Given the description of an element on the screen output the (x, y) to click on. 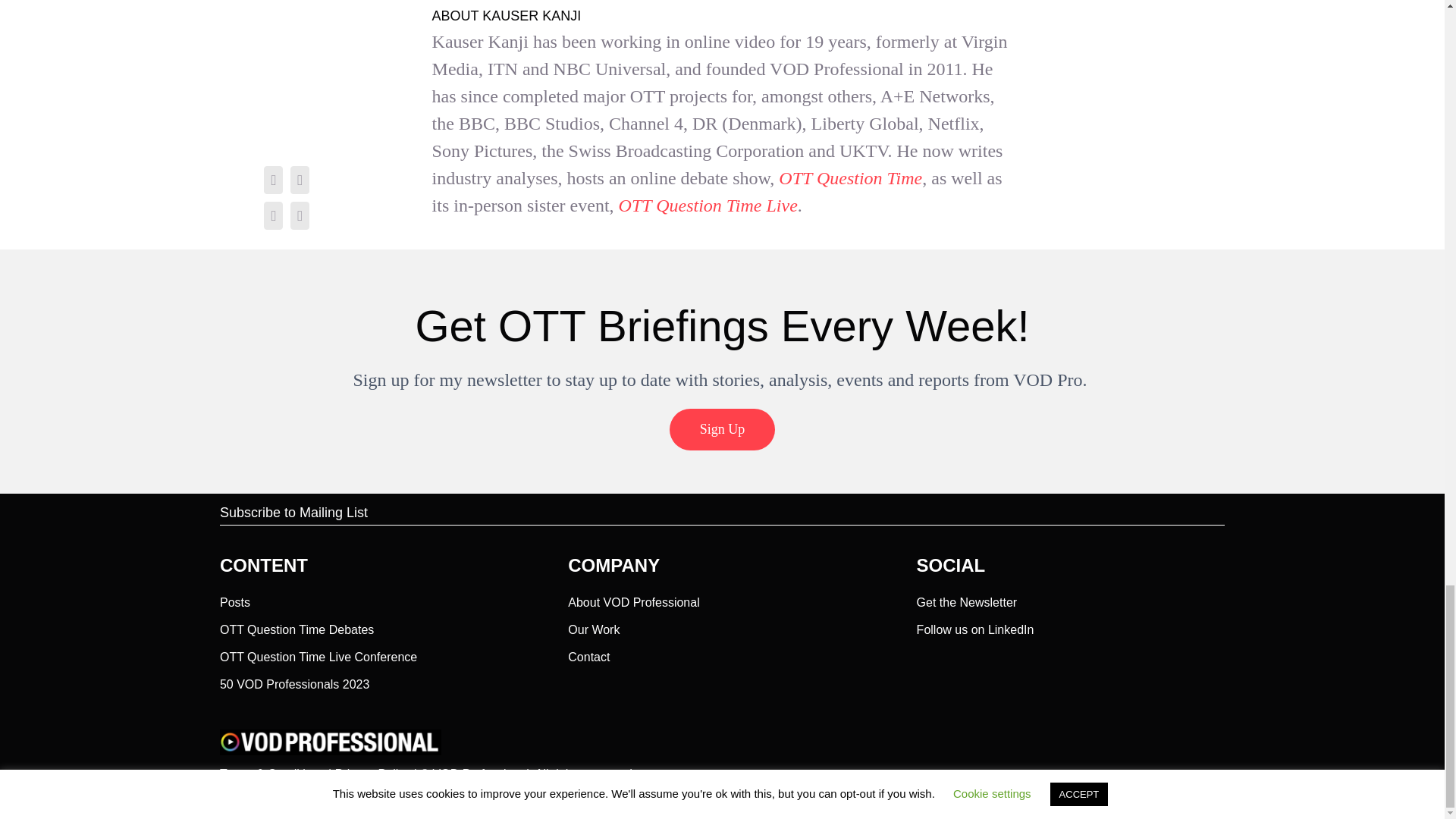
OTT Question Time (849, 178)
OTT Question Time Live (707, 205)
About VOD Professional (632, 599)
VOD Pro Website Retina Mar 2022 (330, 742)
Sign Up (722, 429)
Privacy Policy (372, 773)
Contact (588, 654)
Get the Newsletter (967, 599)
50 VOD Professionals 2023 (294, 681)
Follow us on LinkedIn (975, 627)
Our Work (593, 627)
OTT Question Time Debates (296, 627)
Subscribe to Mailing List (293, 512)
OTT Question Time Live Conference (317, 654)
Posts (234, 599)
